Given the description of an element on the screen output the (x, y) to click on. 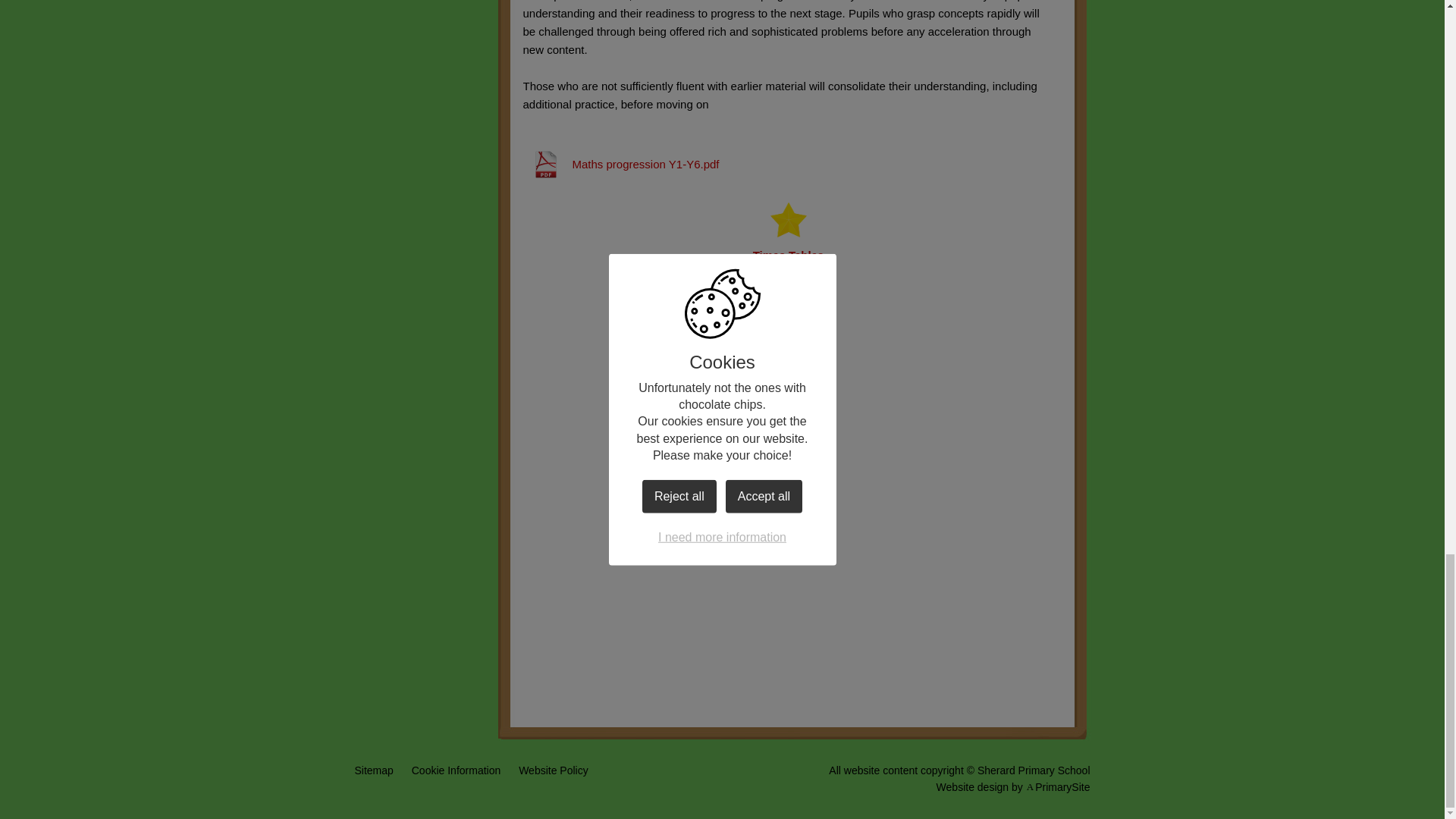
Times Tables Rock Stars (787, 239)
Maths progression Y1-Y6.pdf (620, 164)
